Given the description of an element on the screen output the (x, y) to click on. 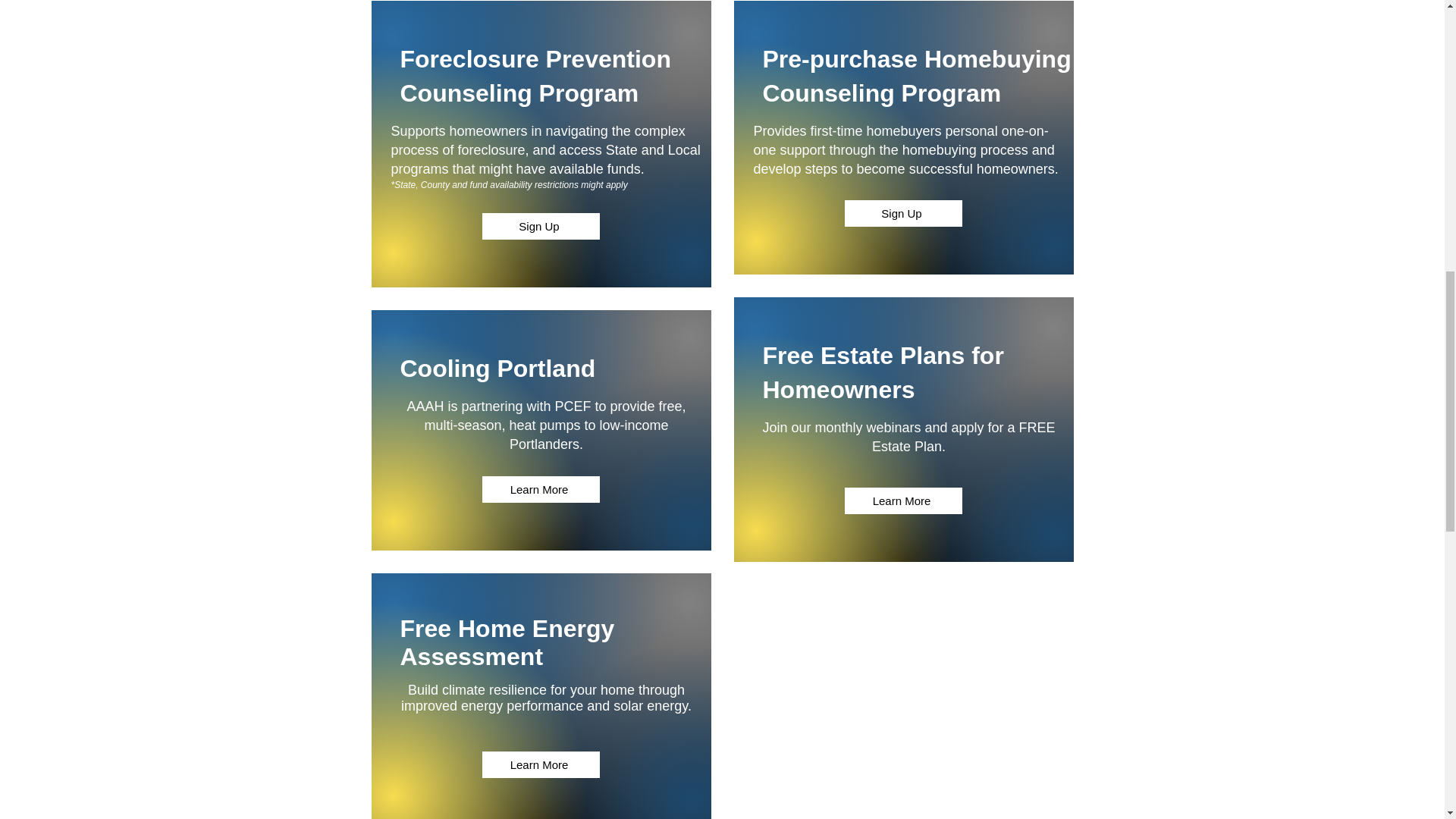
Sign Up (540, 225)
Learn More (540, 488)
Learn More (903, 500)
Learn More (540, 764)
Sign Up (903, 212)
